Given the description of an element on the screen output the (x, y) to click on. 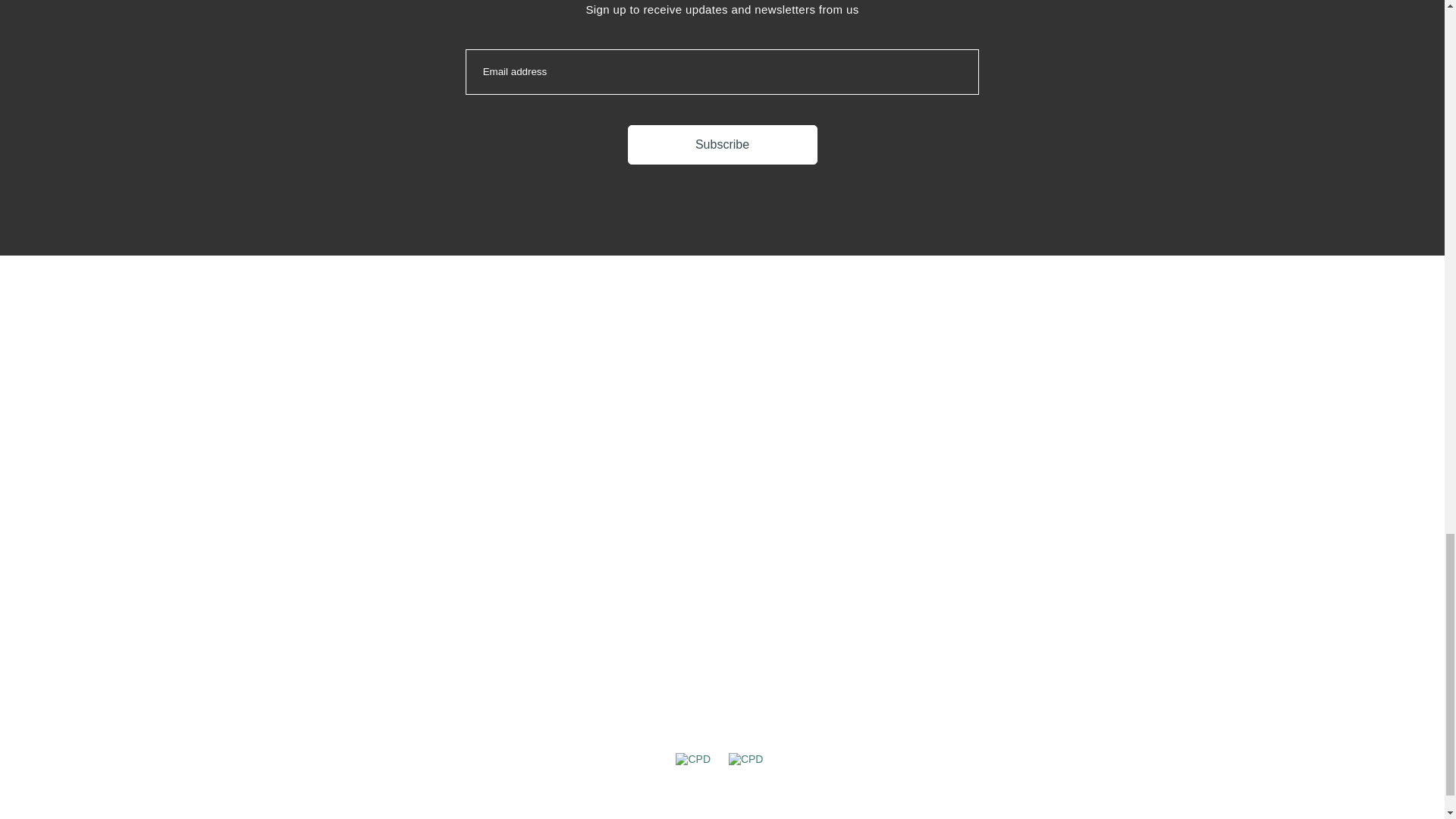
Sinels LinkedIn (1032, 428)
Subscribe (721, 144)
Subscribe (721, 144)
Restitution (1032, 468)
Sintel Global (1032, 448)
